Given the description of an element on the screen output the (x, y) to click on. 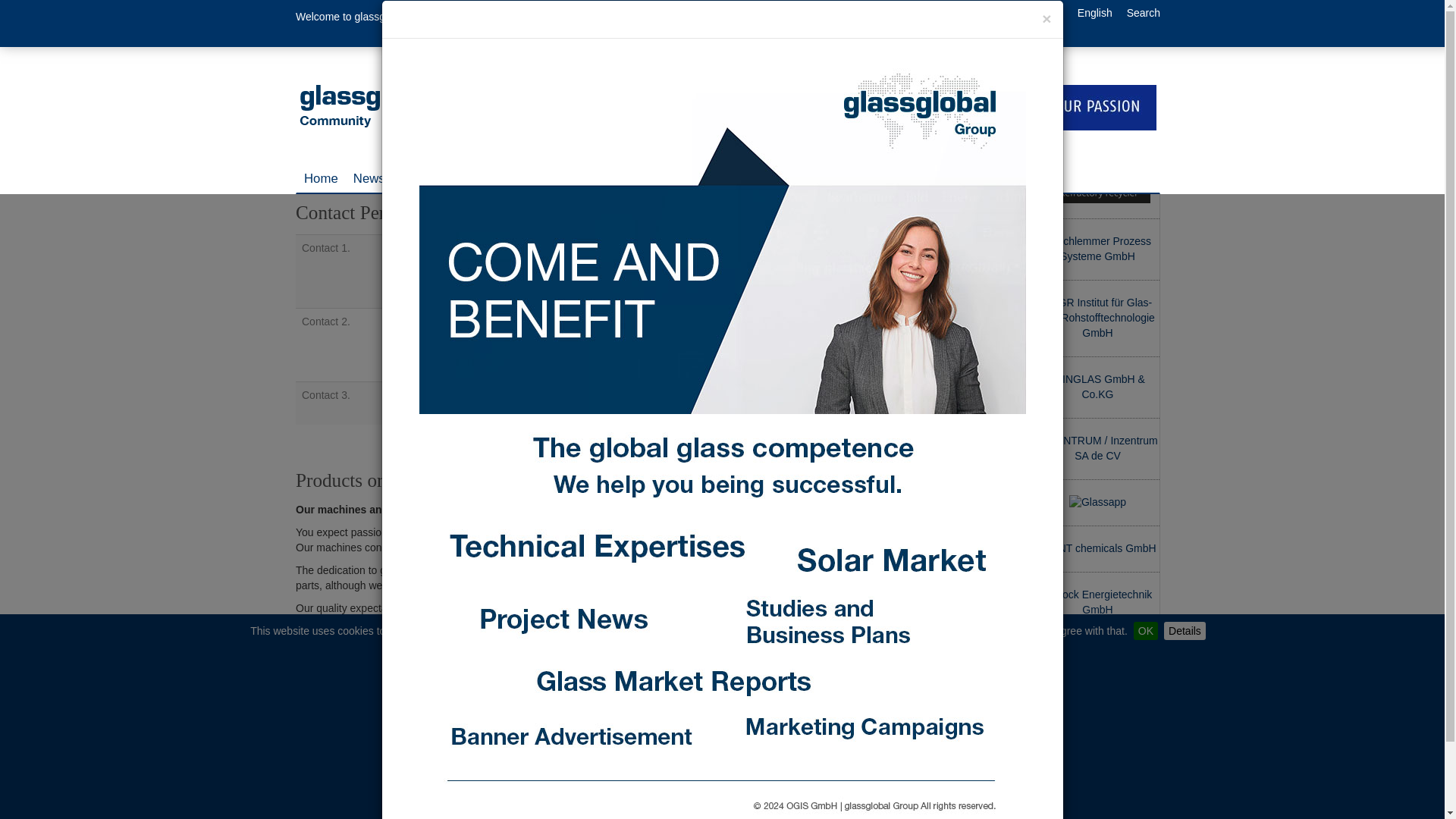
Close (1027, 49)
